Given the description of an element on the screen output the (x, y) to click on. 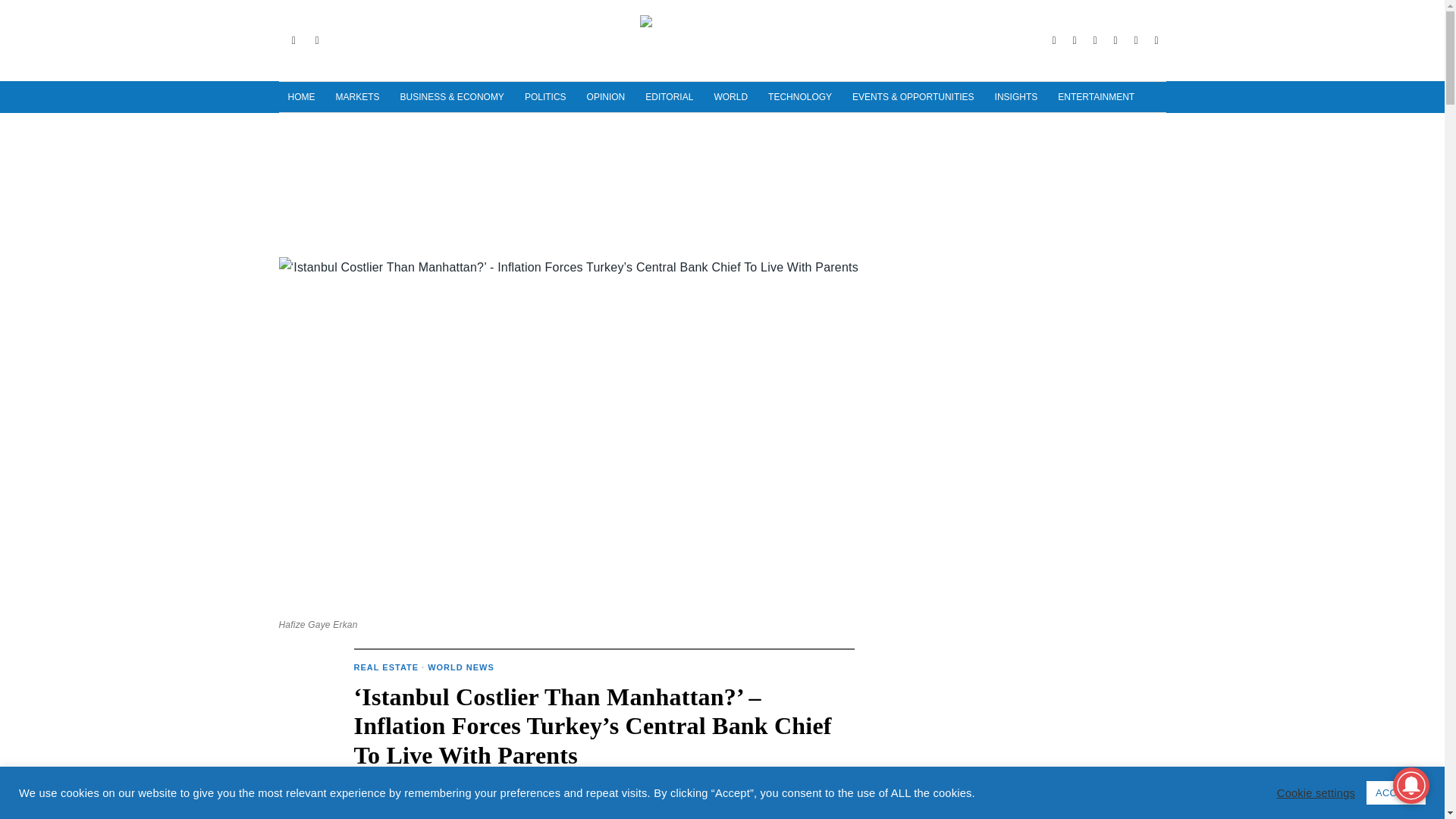
INSIGHTS (1017, 96)
WORLD NEWS (461, 667)
EDITORIAL (670, 96)
REAL ESTATE (386, 667)
ENTERTAINMENT (1096, 96)
HOME (302, 96)
TECHNOLOGY (800, 96)
POLITICS (546, 96)
OPINION (607, 96)
17 Dec, 2023 11:36:40 (381, 789)
WORLD (731, 96)
MARKETS (358, 96)
SPORTS (307, 127)
